Given the description of an element on the screen output the (x, y) to click on. 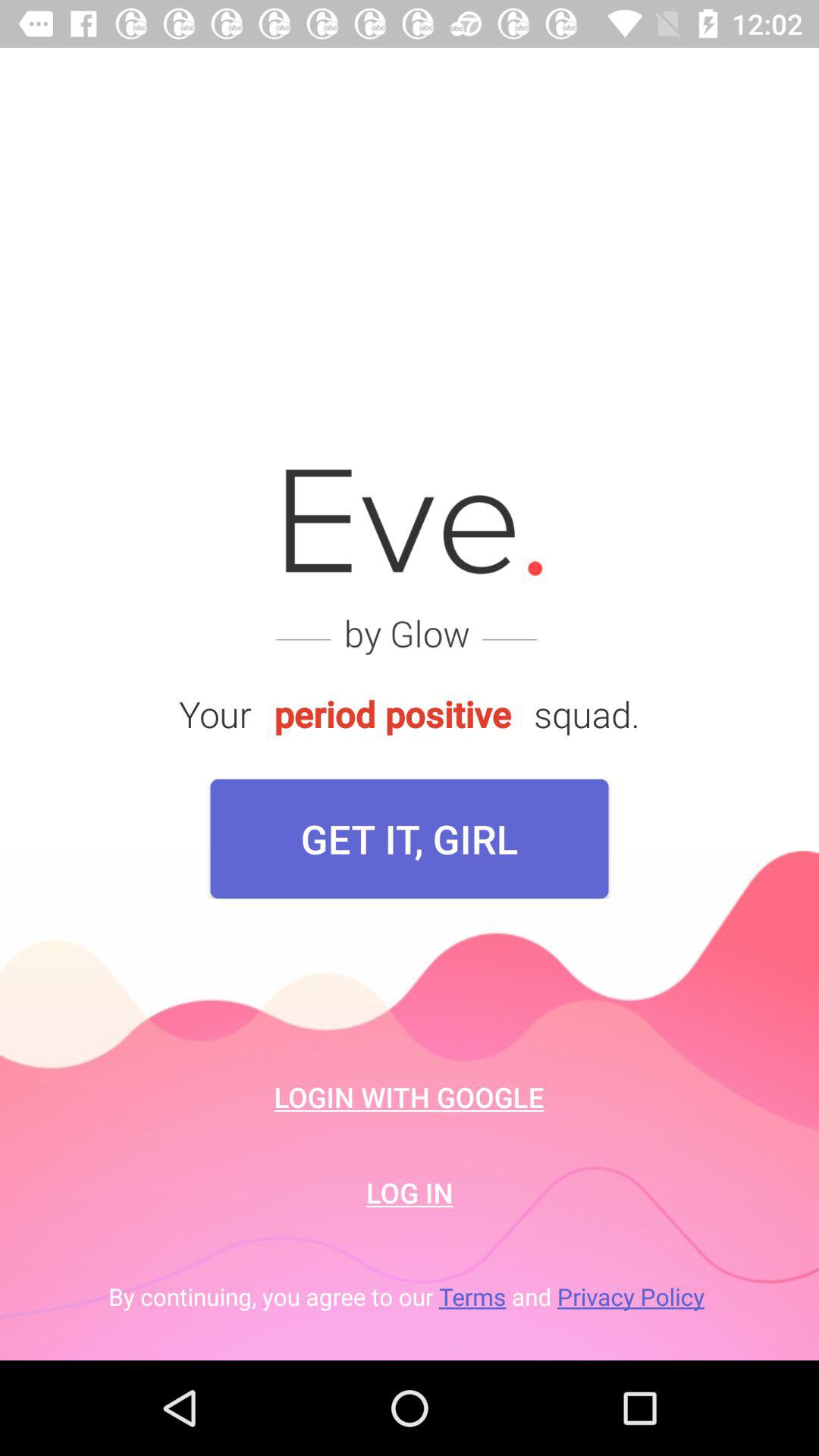
press get it, girl icon (409, 838)
